Given the description of an element on the screen output the (x, y) to click on. 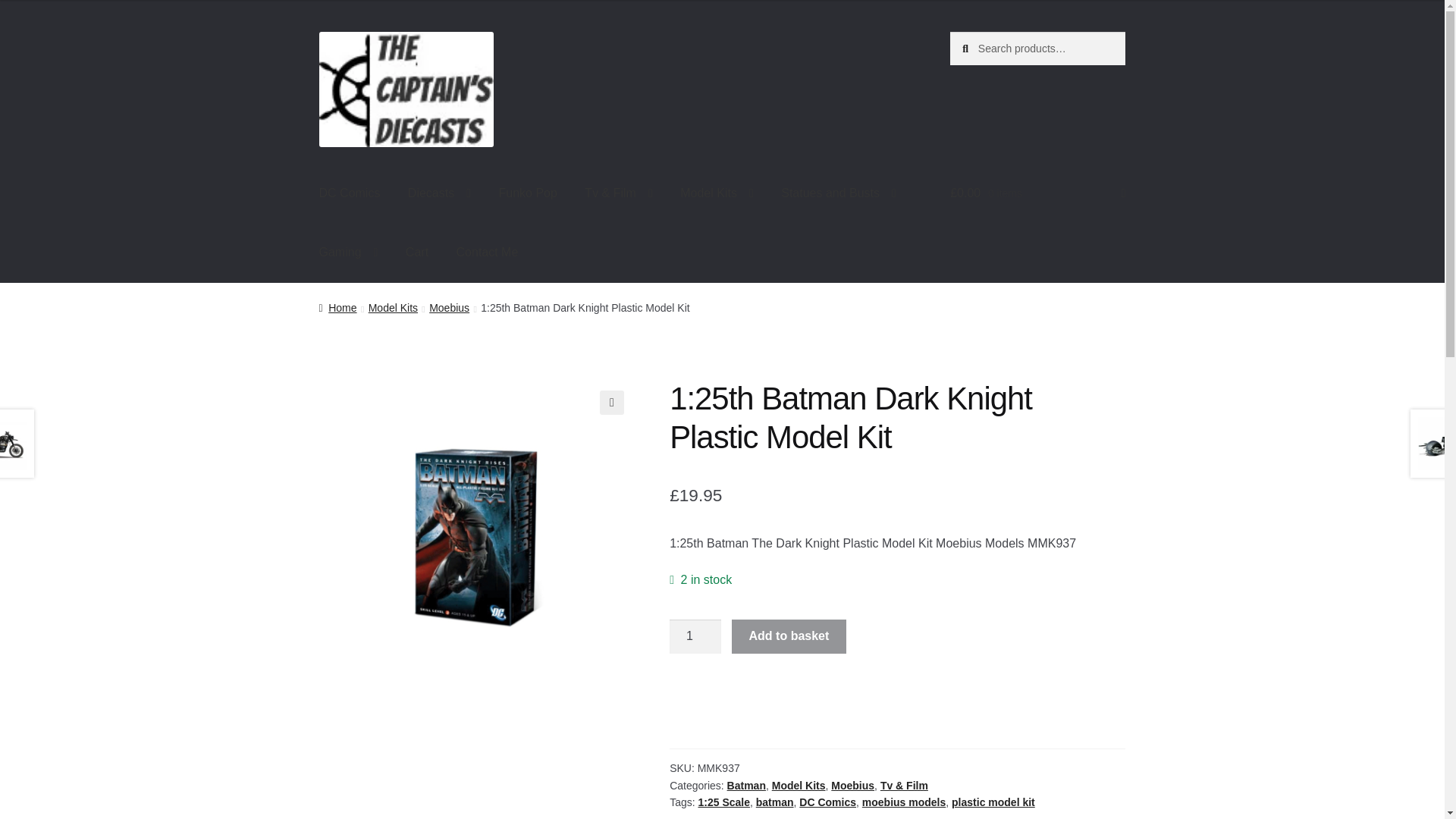
View your shopping basket (1037, 193)
1 (694, 636)
DC Comics (350, 193)
Diecasts (439, 193)
Funko Pop (527, 193)
PayPal (897, 716)
The Dark Knight Batman kit boxed (476, 537)
